Given the description of an element on the screen output the (x, y) to click on. 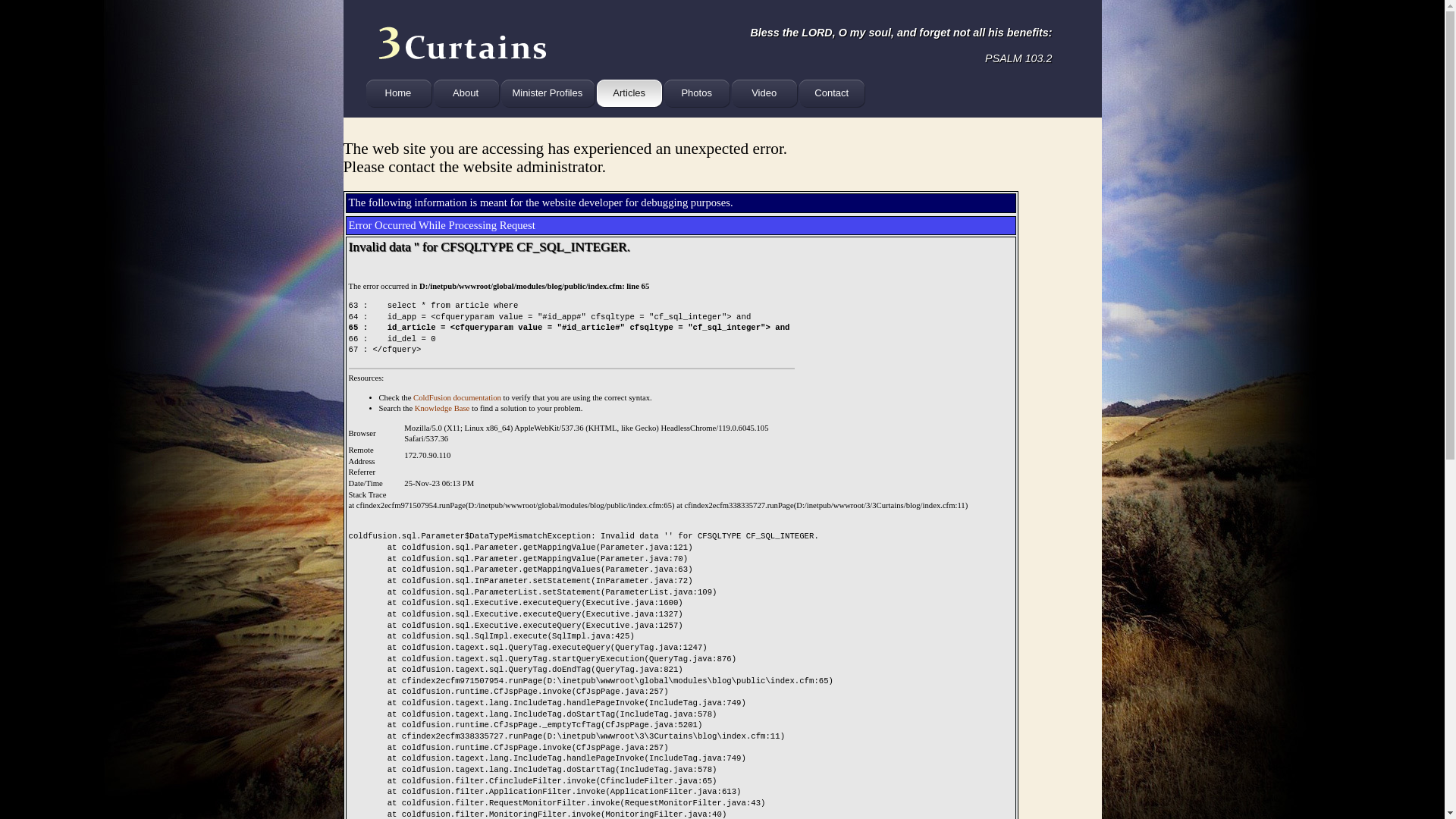
Minister Profiles Element type: text (551, 93)
Video Element type: text (768, 93)
Articles Element type: text (633, 93)
Home Element type: text (402, 93)
Knowledge Base Element type: text (442, 408)
Photos Element type: text (700, 93)
Contact Element type: text (835, 93)
About Element type: text (470, 93)
ColdFusion documentation Element type: text (457, 397)
